Given the description of an element on the screen output the (x, y) to click on. 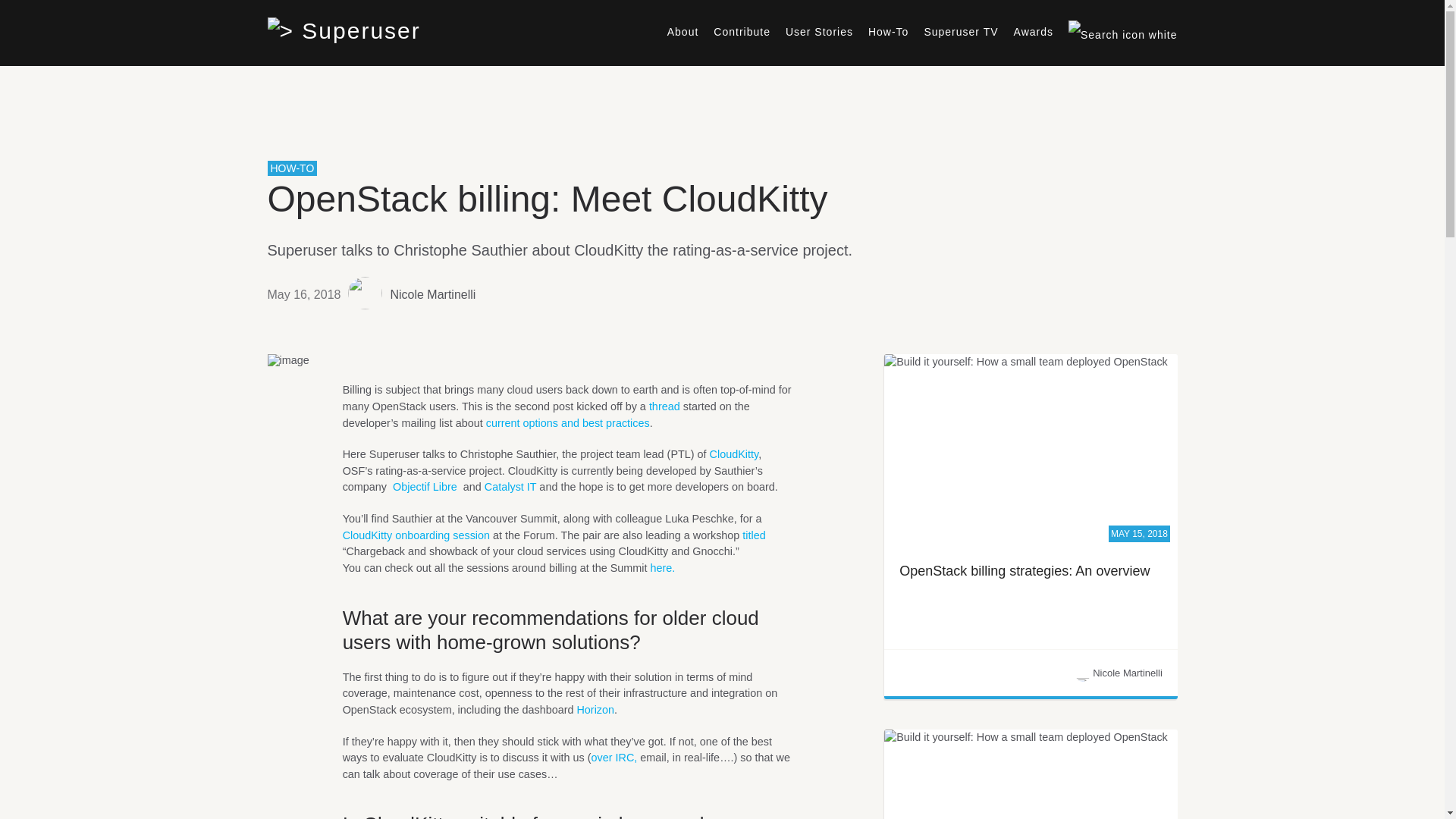
Posts by Nicole Martinelli (433, 294)
Nicole Martinelli (433, 294)
About (682, 31)
OpenStack billing: Meet CloudKitty (546, 199)
thread (664, 406)
How-To (887, 31)
CloudKitty onboarding session (415, 535)
titled (753, 535)
Search (1391, 79)
CloudKitty (734, 453)
current options and best practices (567, 422)
User Stories (819, 31)
Awards (1032, 31)
Catalyst IT (510, 486)
Contribute (741, 31)
